Given the description of an element on the screen output the (x, y) to click on. 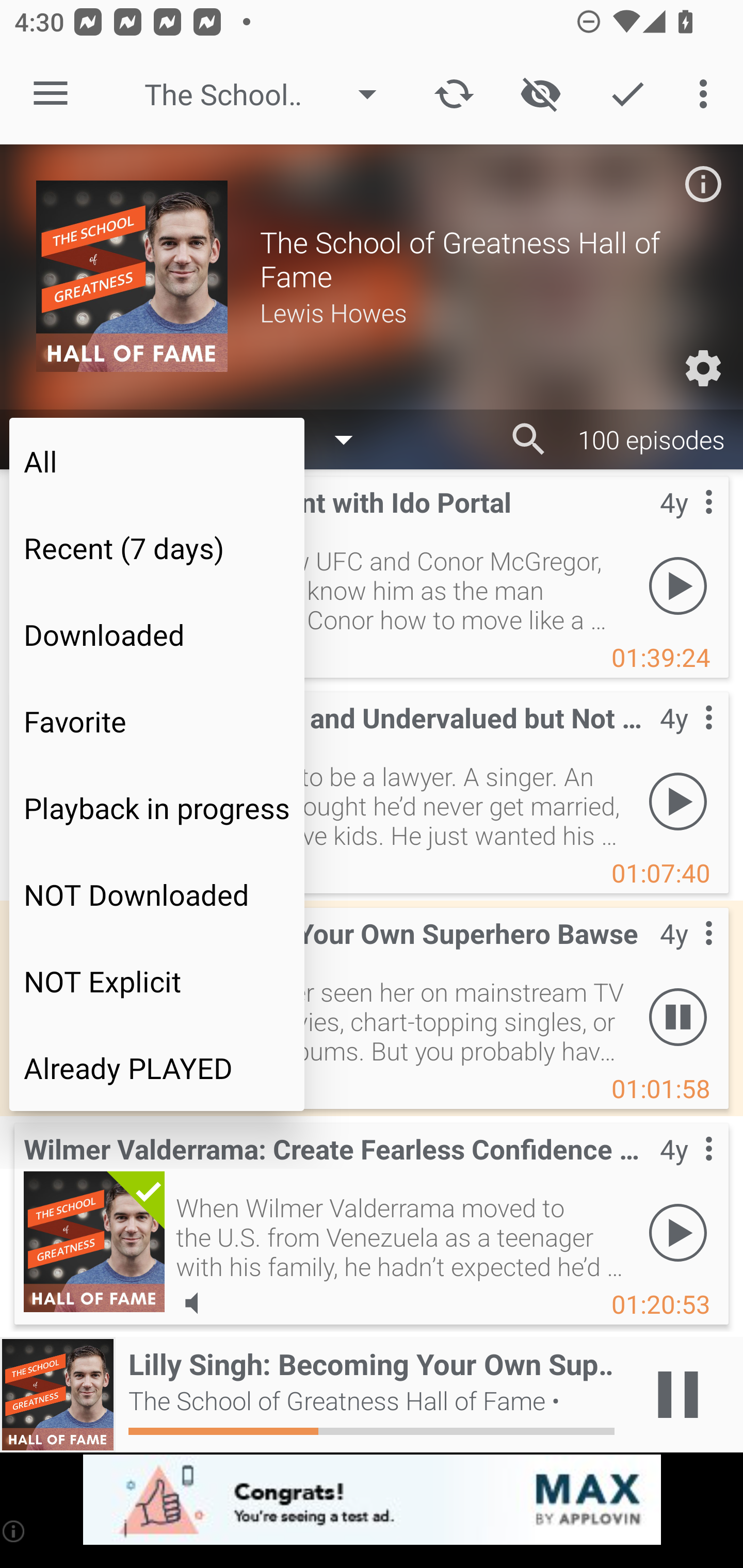
All (156, 460)
Recent (7 days) (156, 547)
Downloaded (156, 634)
Favorite (156, 721)
Playback in progress (156, 808)
NOT Downloaded (156, 894)
NOT Explicit (156, 980)
Already PLAYED (156, 1067)
